Given the description of an element on the screen output the (x, y) to click on. 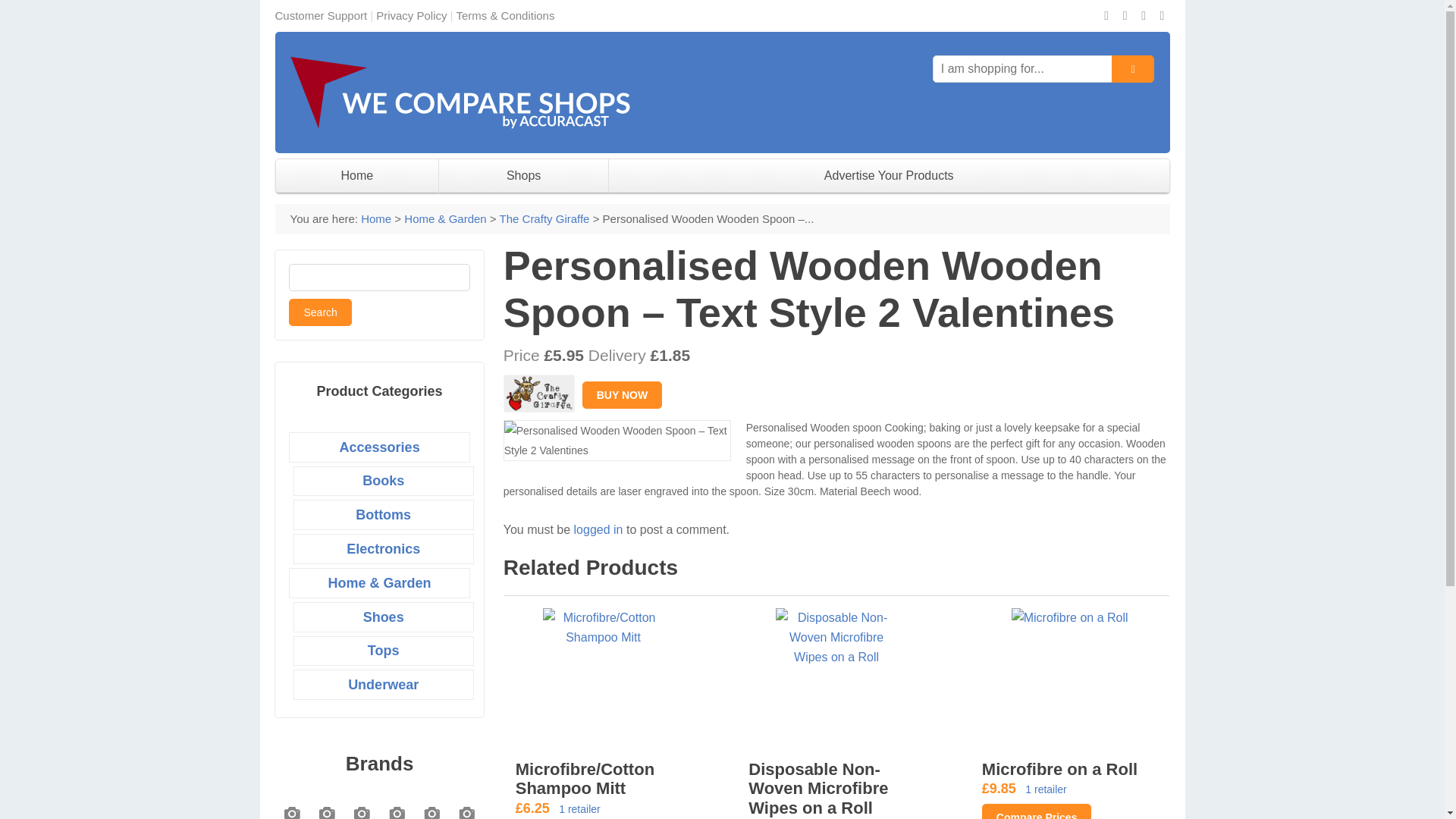
Accessories (379, 446)
Home (357, 175)
Search (319, 311)
1 retailer (1045, 789)
Search (319, 311)
BUY NOW (622, 393)
The Crafty Giraffe (544, 218)
Books (383, 480)
logged in (598, 529)
Disposable Non-Woven Microfibre Wipes on a Roll (818, 788)
